Given the description of an element on the screen output the (x, y) to click on. 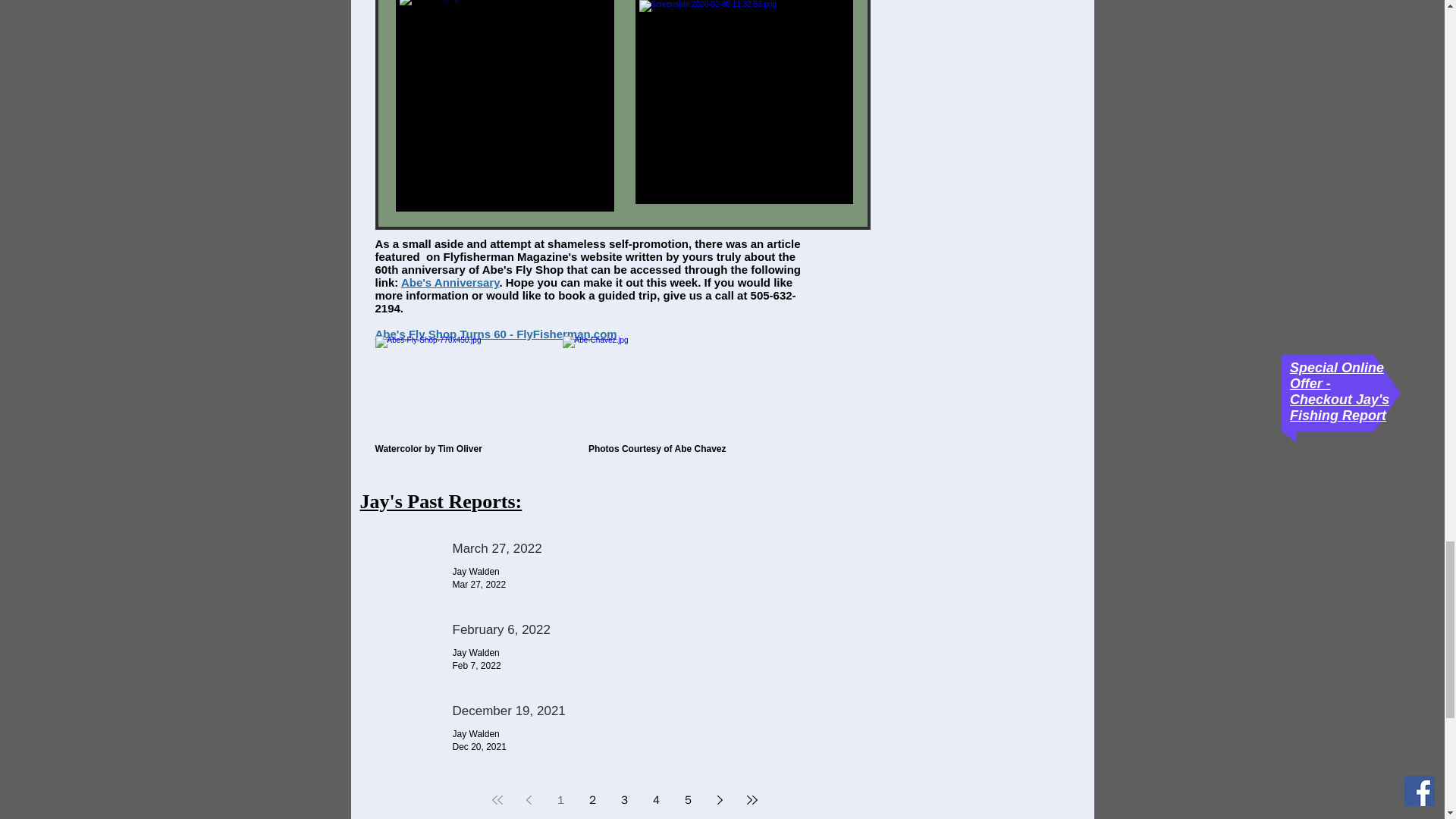
Jay Walden (475, 571)
Feb 7, 2022 (475, 665)
Jay Walden (475, 652)
Abe's Anniversary (450, 282)
Jay Walden (475, 733)
Mar 27, 2022 (478, 584)
Abe's Fly Shop Turns 60 - FlyFisherman.com (494, 333)
Dec 20, 2021 (478, 747)
